Given the description of an element on the screen output the (x, y) to click on. 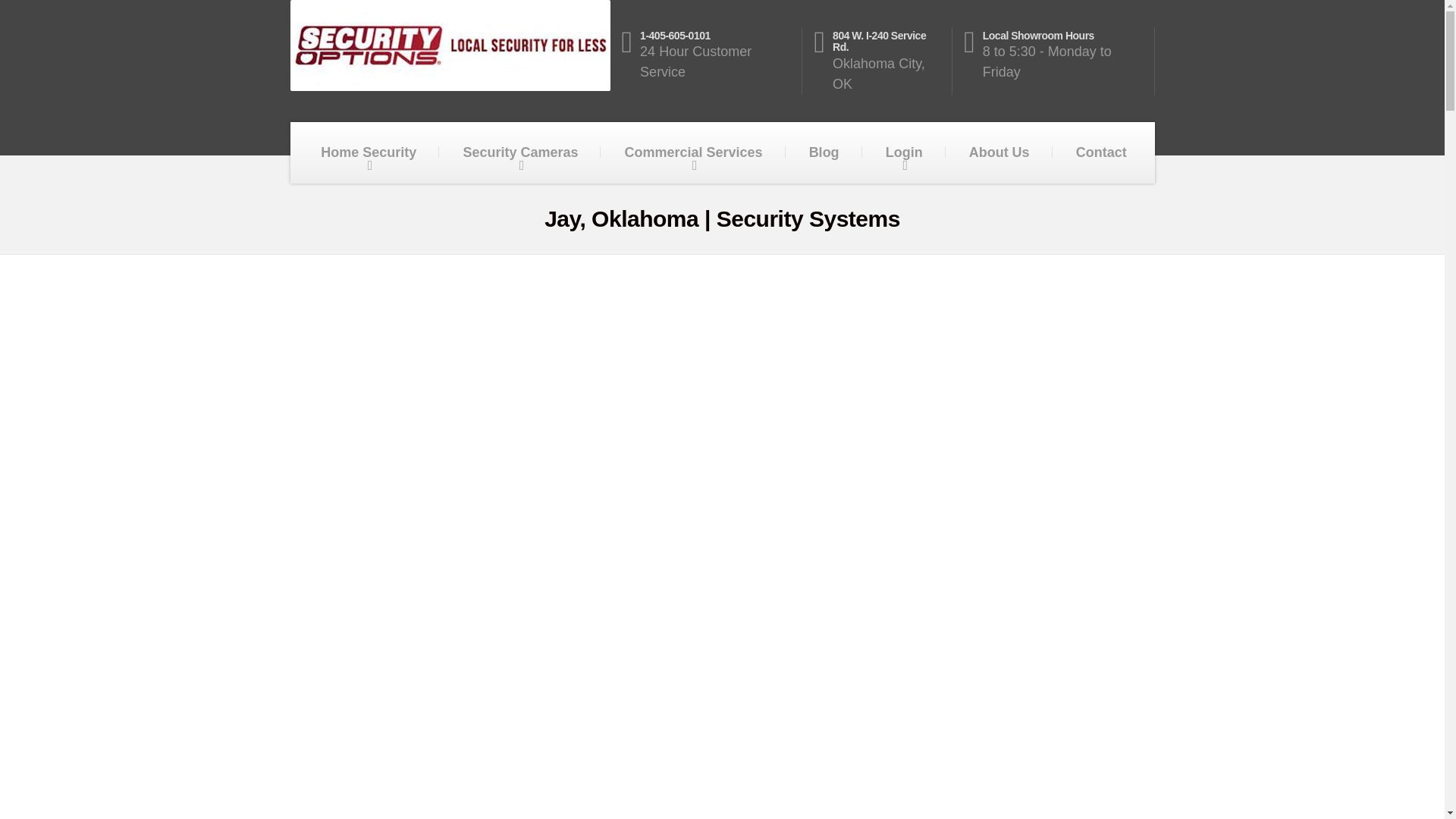
Security Cameras (519, 152)
Commercial Services (694, 152)
Contact (1101, 152)
Login (882, 61)
Blog (903, 152)
About Us (823, 152)
Home Security (999, 152)
